Given the description of an element on the screen output the (x, y) to click on. 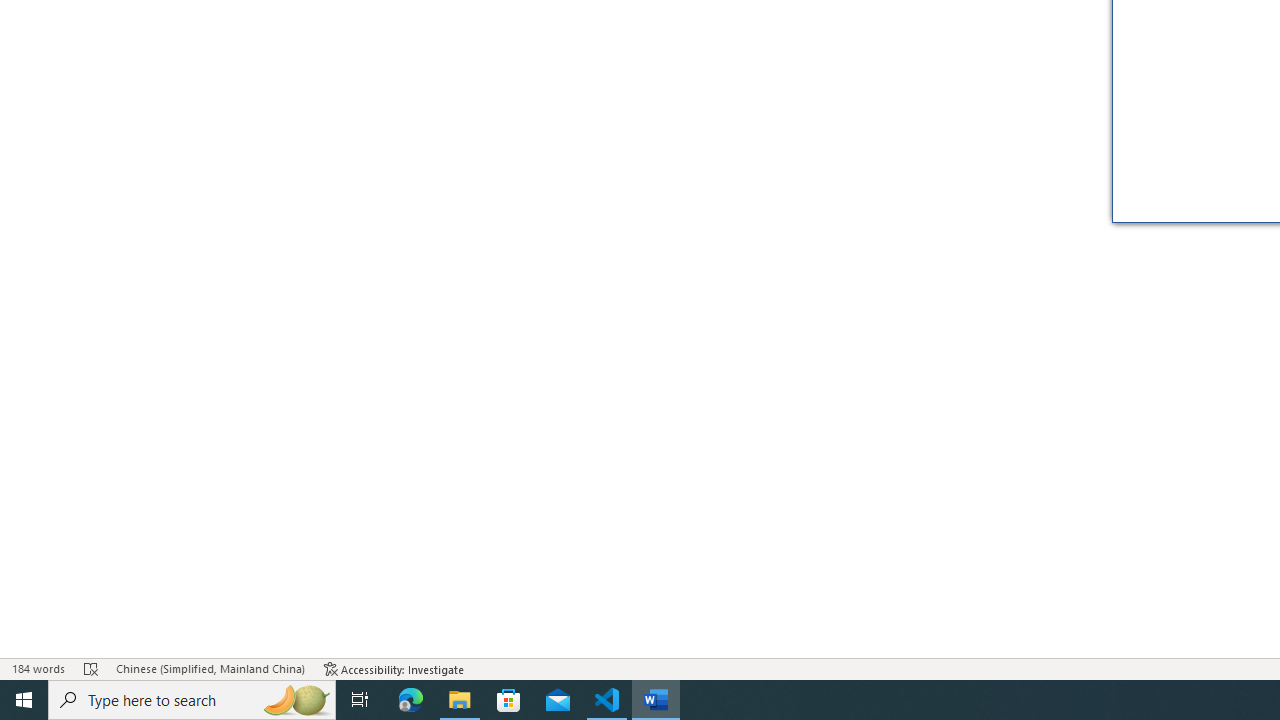
File Explorer - 1 running window (460, 699)
Word Count 184 words (37, 668)
Word - 1 running window (656, 699)
Microsoft Edge (411, 699)
